Given the description of an element on the screen output the (x, y) to click on. 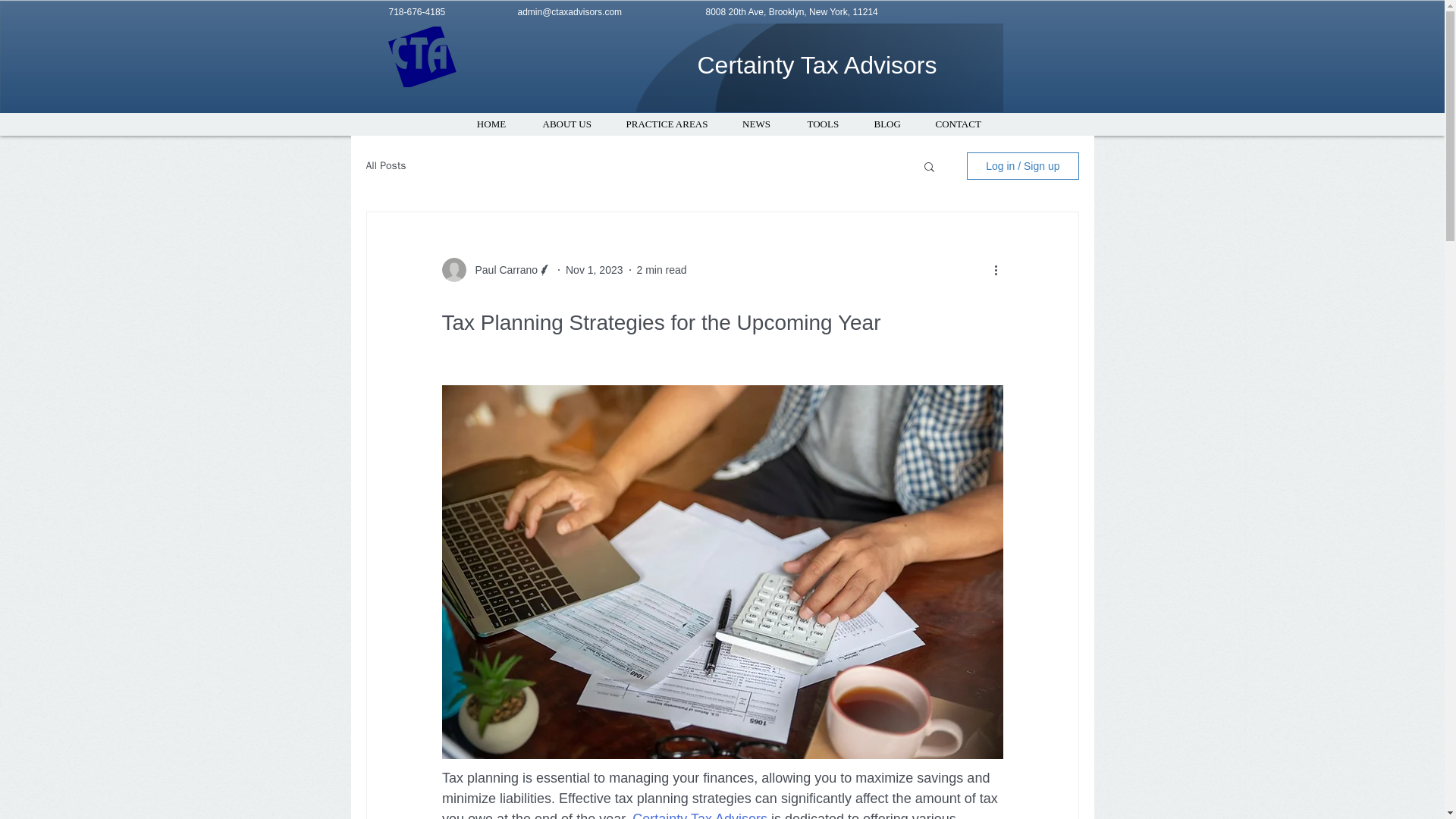
Certainty Tax Advisors (817, 64)
TOOLS (822, 124)
Paul Carrano (501, 270)
BLOG (886, 124)
CONTACT (957, 124)
PRACTICE AREAS (665, 124)
Nov 1, 2023 (594, 269)
2 min read (662, 269)
HOME (491, 124)
NEWS (756, 124)
